Given the description of an element on the screen output the (x, y) to click on. 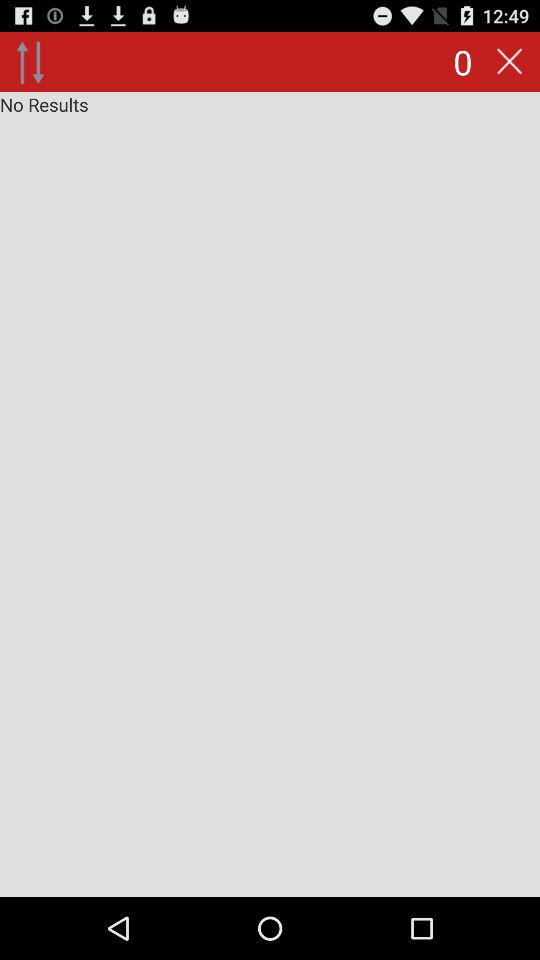
tap item at the center (270, 494)
